Given the description of an element on the screen output the (x, y) to click on. 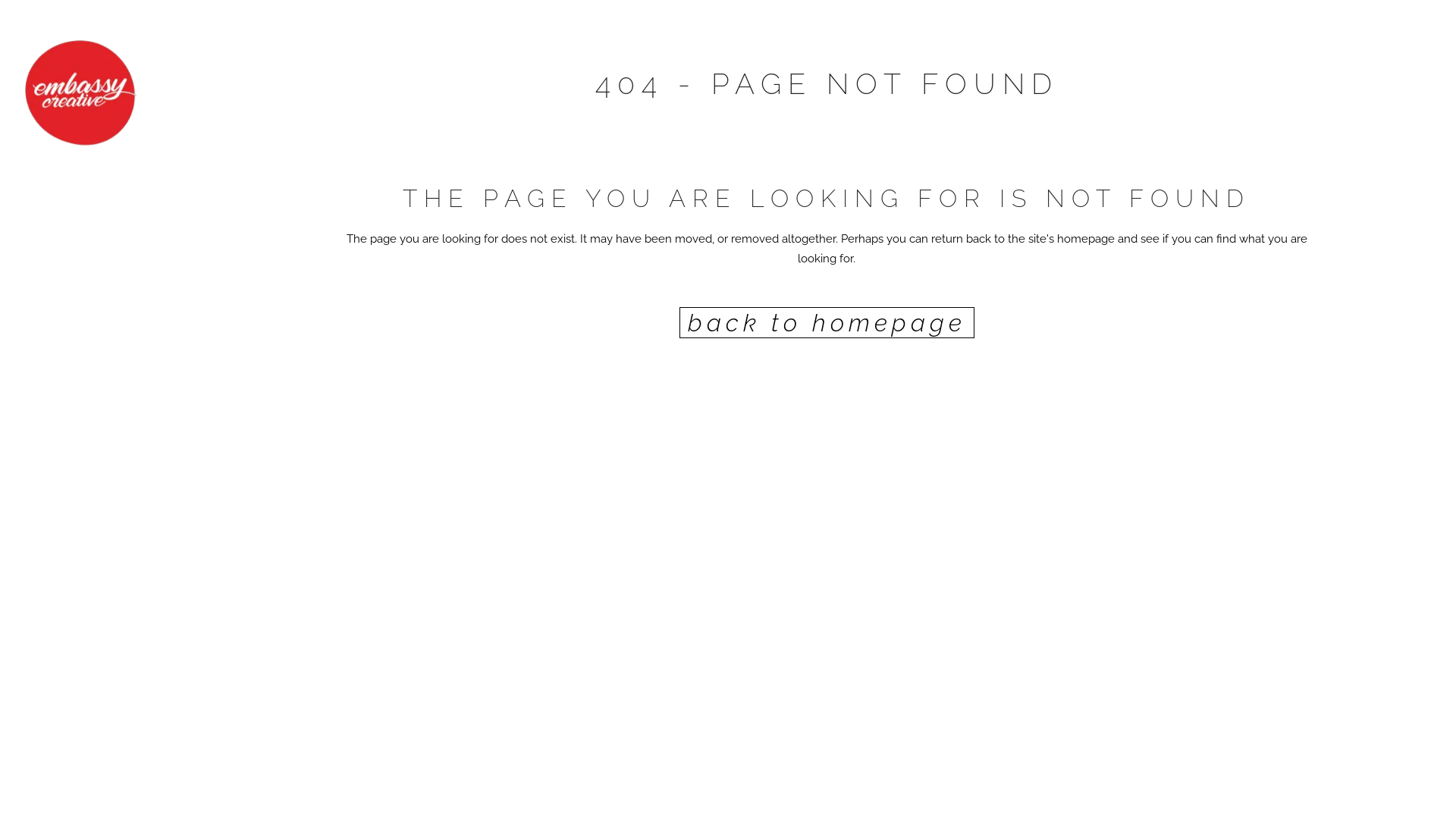
HOME Element type: text (98, 186)
OUR STORY Element type: text (98, 225)
DISCOVER DIFFERENT Element type: text (98, 362)
OUR CAPABILITIES Element type: text (98, 310)
CONTACT Element type: text (98, 486)
back to homepage Element type: text (826, 322)
YOUR TEAM Element type: text (98, 407)
OUR THINKING Element type: text (98, 265)
Privacy Policy Element type: text (276, 799)
SUBSCRIBE Element type: text (98, 447)
